Given the description of an element on the screen output the (x, y) to click on. 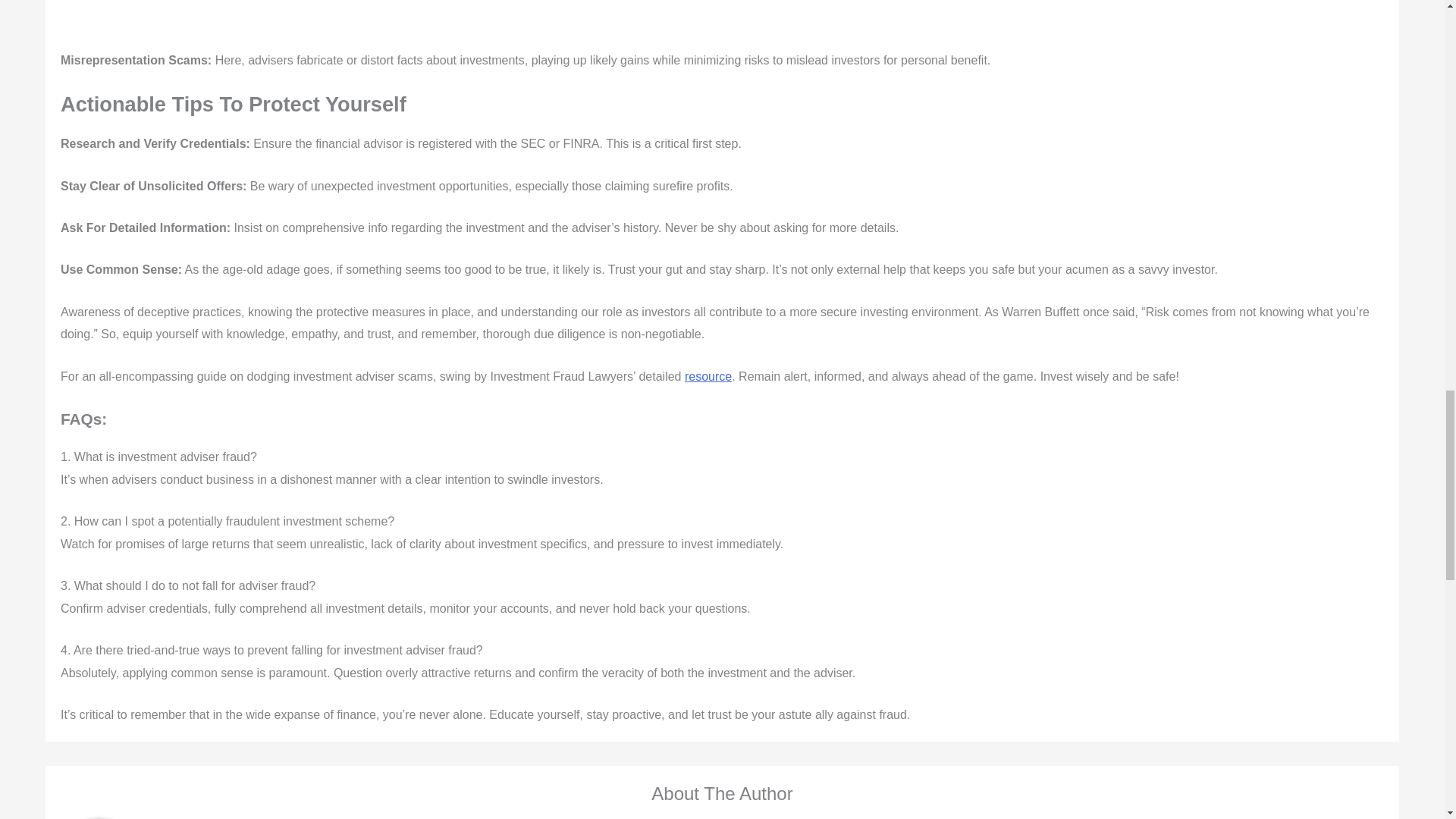
resource (708, 376)
